Given the description of an element on the screen output the (x, y) to click on. 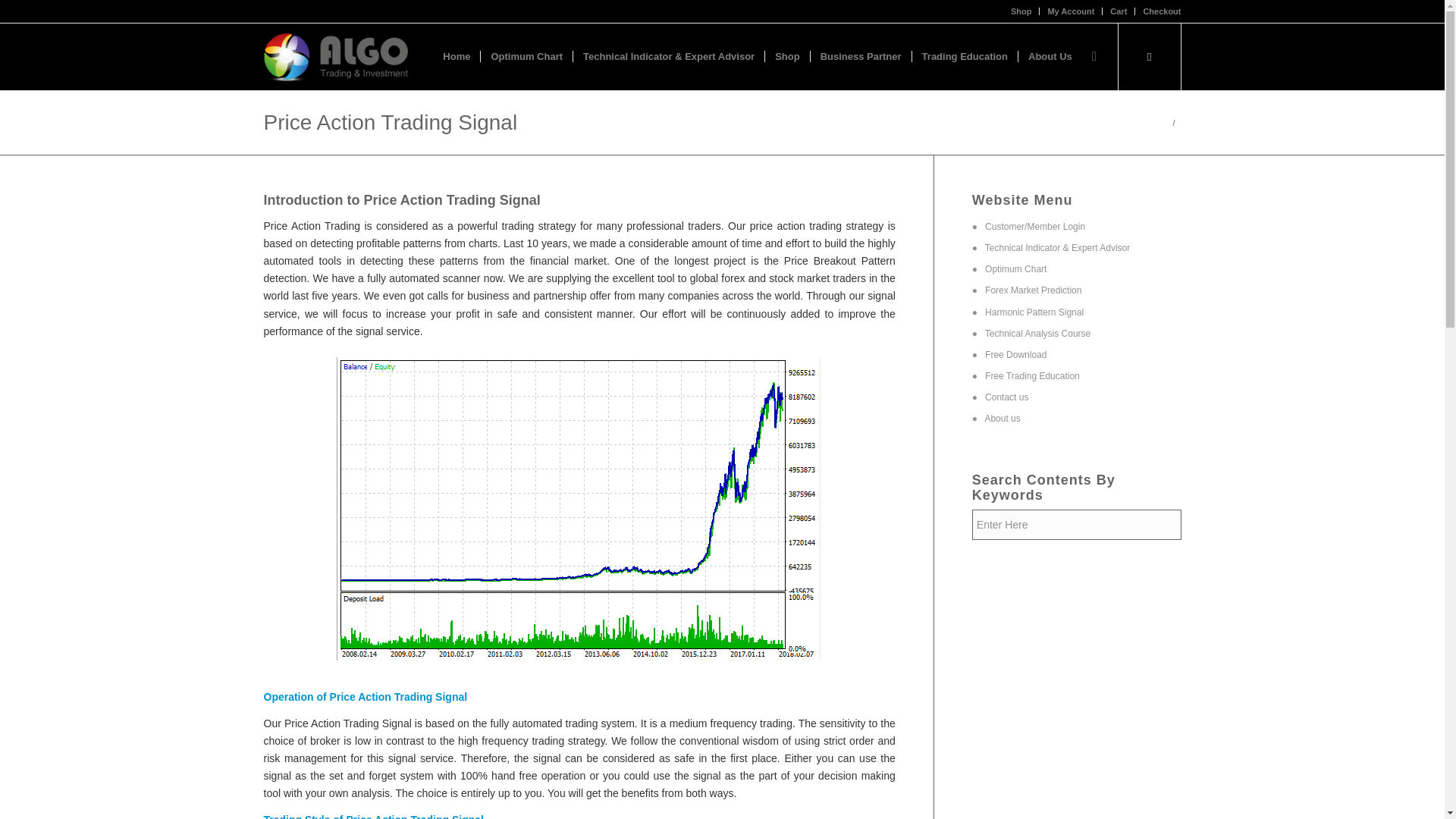
My Account (1070, 11)
Checkout (1161, 11)
Business Partner (860, 56)
Optimum Chart (526, 56)
Permanent Link: Price Action Trading Signal (390, 122)
Shop (1021, 11)
